Given the description of an element on the screen output the (x, y) to click on. 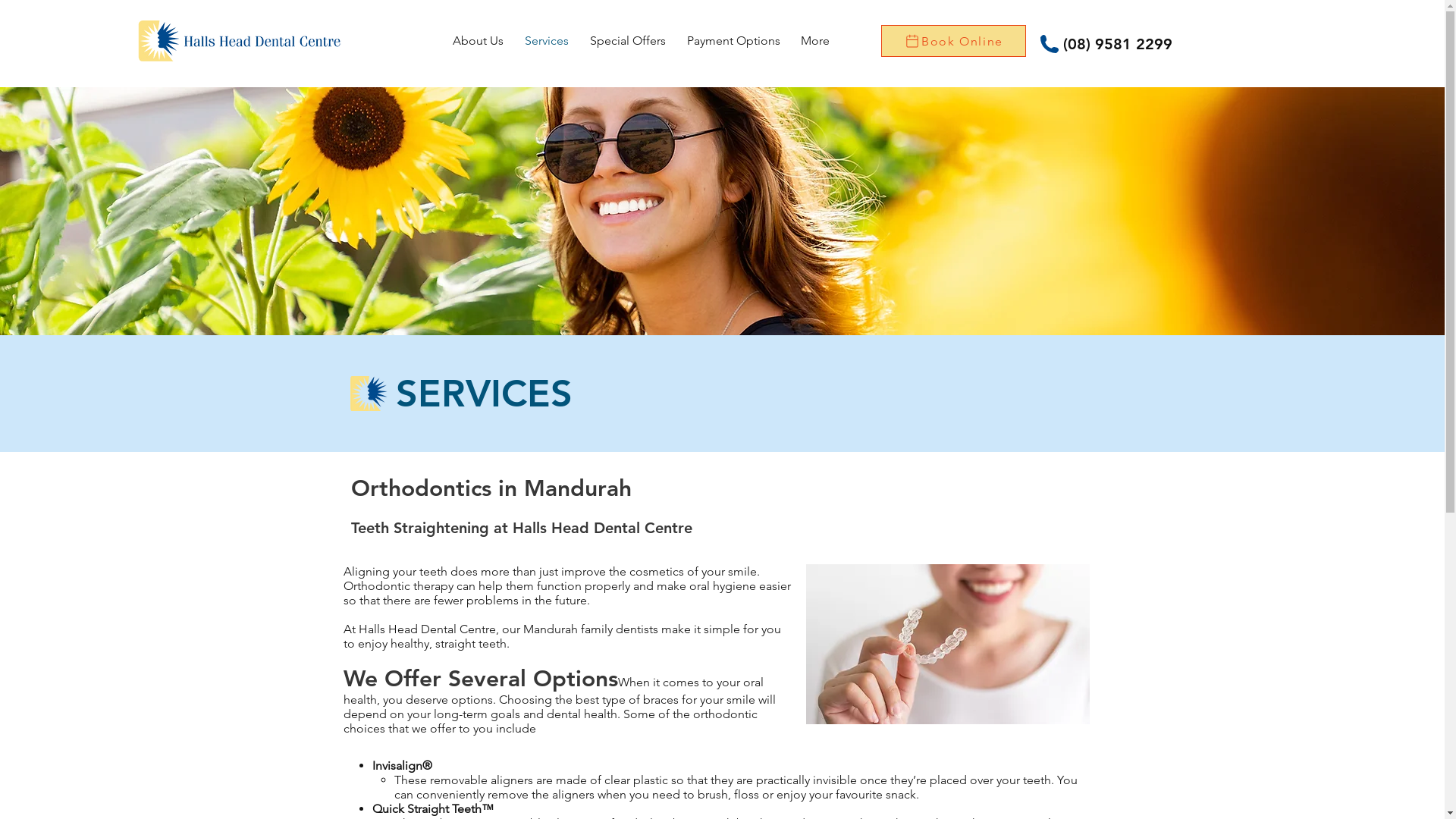
Payment Options Element type: text (733, 40)
Book Online Element type: text (953, 40)
Services Element type: text (546, 40)
Special Offers Element type: text (627, 40)
About Us Element type: text (477, 40)
(08) 9581 2299 Element type: text (1117, 43)
